Given the description of an element on the screen output the (x, y) to click on. 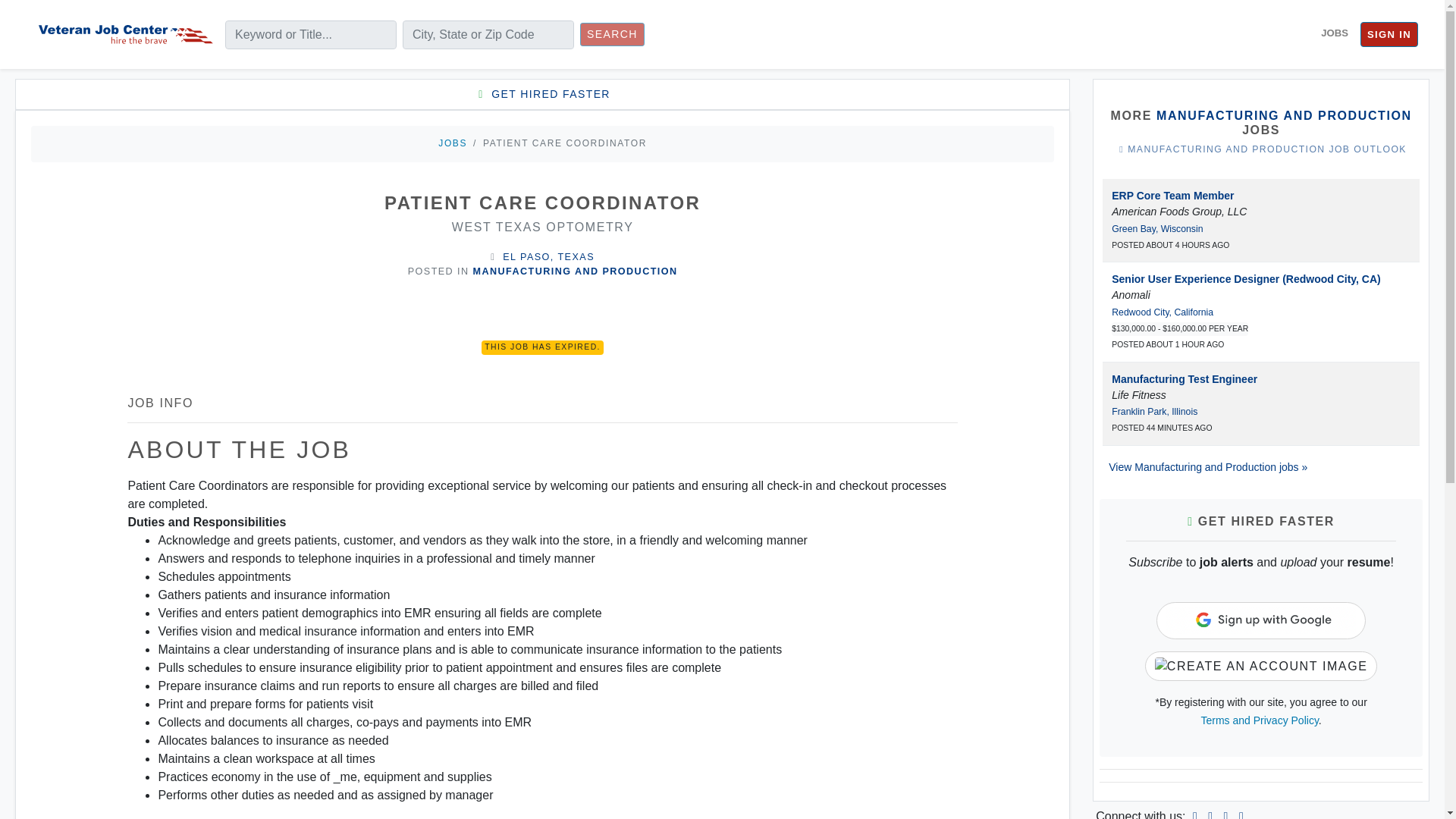
Link to LinkedIn (1195, 814)
Terms and Privacy Policy (1260, 720)
SIGN IN (1388, 34)
MANUFACTURING AND PRODUCTION (575, 271)
Link to Twitter (1225, 814)
JOBS (452, 143)
ERP Core Team Member (1172, 195)
Email Veteran Job Center (1240, 814)
SEARCH (612, 33)
EL PASO, TEXAS (548, 256)
